Given the description of an element on the screen output the (x, y) to click on. 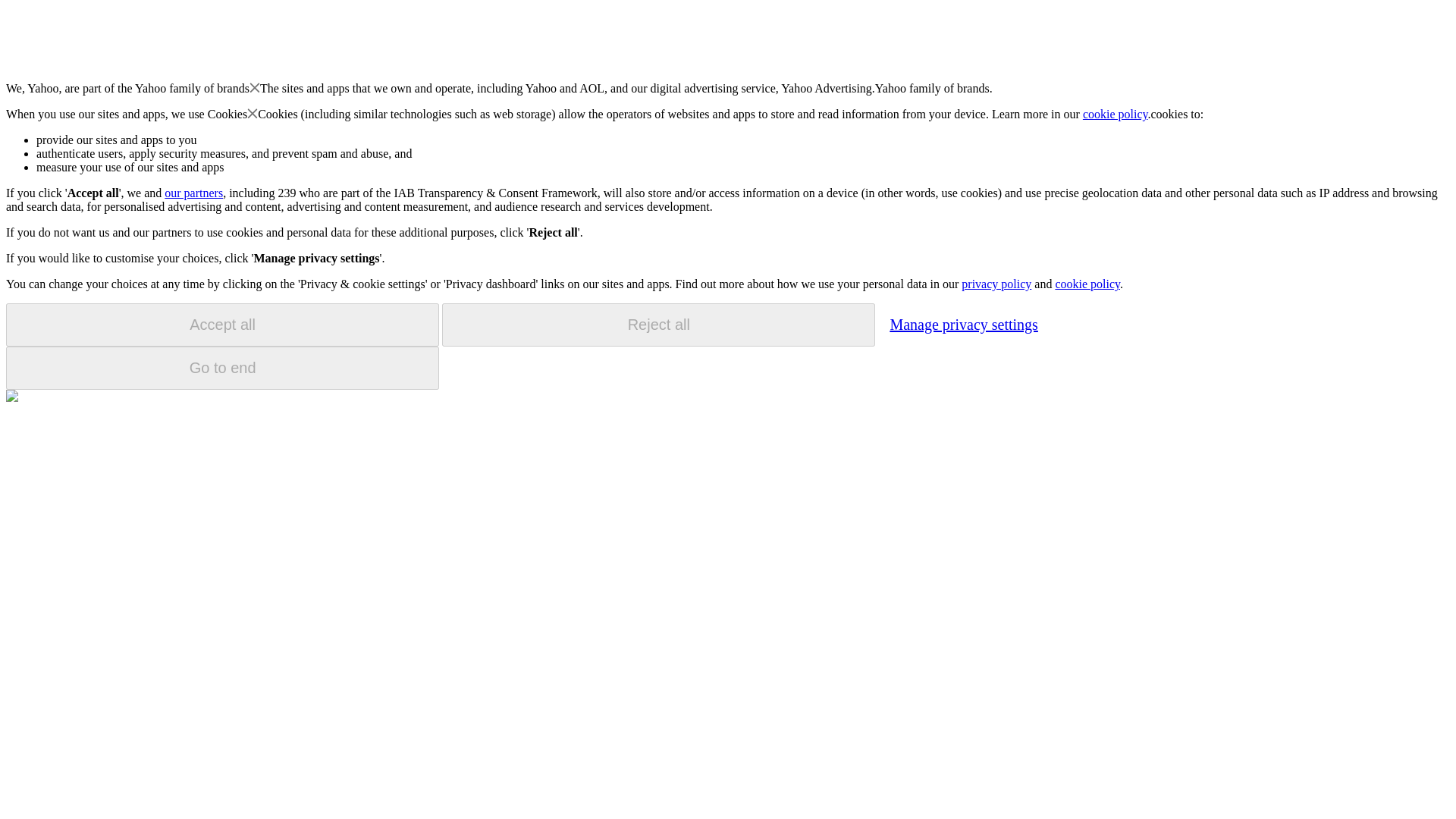
cookie policy (1115, 113)
Accept all (222, 324)
Go to end (222, 367)
our partners (193, 192)
privacy policy (995, 283)
Reject all (658, 324)
Manage privacy settings (963, 323)
cookie policy (1086, 283)
